Given the description of an element on the screen output the (x, y) to click on. 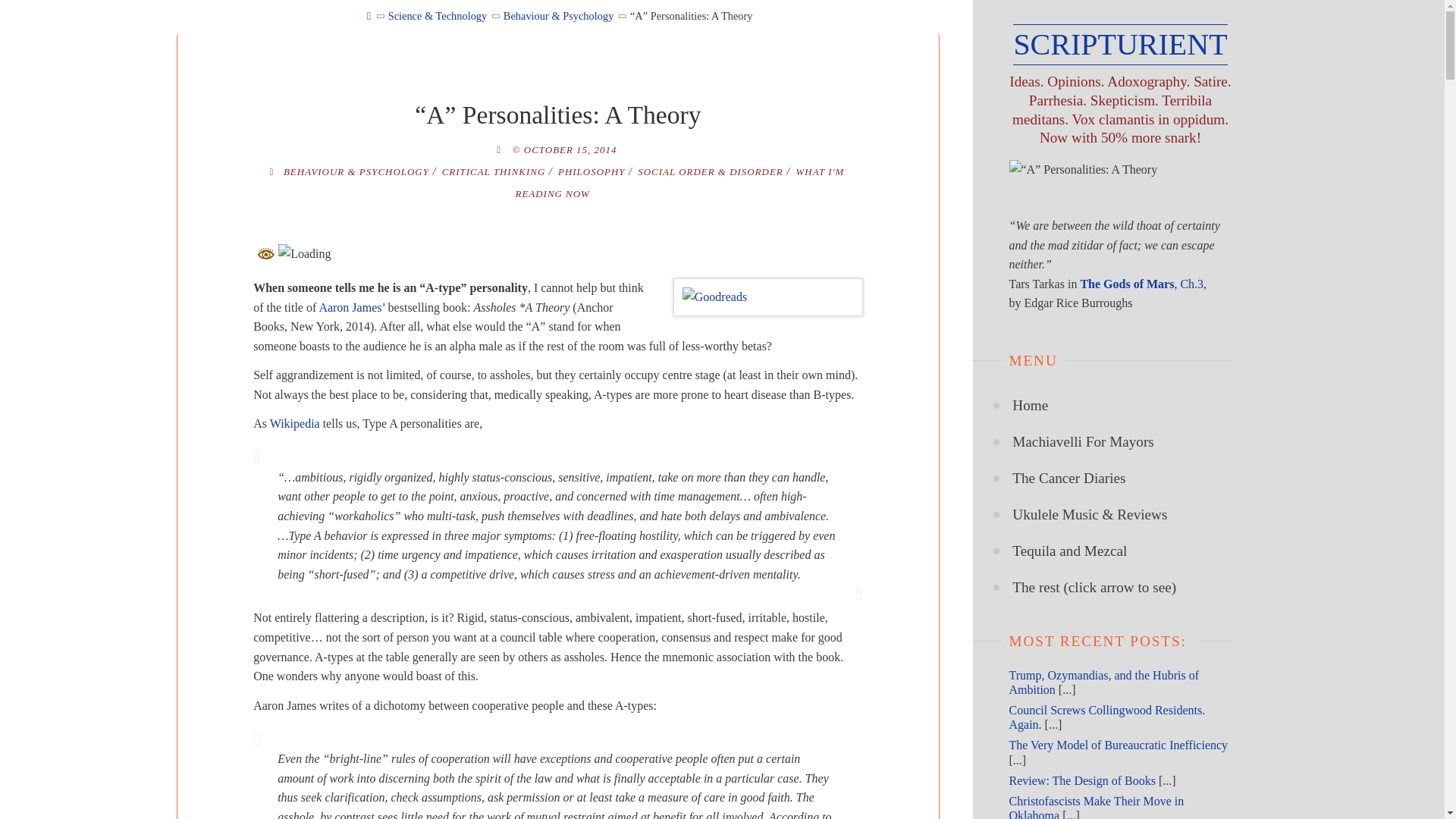
SCRIPTURIENT (1120, 44)
Council Screws Collingwood Residents. Again. (1107, 717)
Machiavelli For Mayors (1082, 442)
Trump, Ozymandias, and the Hubris of Ambition (1103, 682)
The Gods of Mars, Ch.3 (1142, 283)
Christofascists Make Their Move in Oklahoma (1096, 806)
The Very Model of Bureaucratic Inefficiency (1118, 744)
Home (1029, 405)
Tequila and Mezcal (1068, 551)
Review: The Design of Books (1081, 780)
The Cancer Diaries (1068, 478)
